Given the description of an element on the screen output the (x, y) to click on. 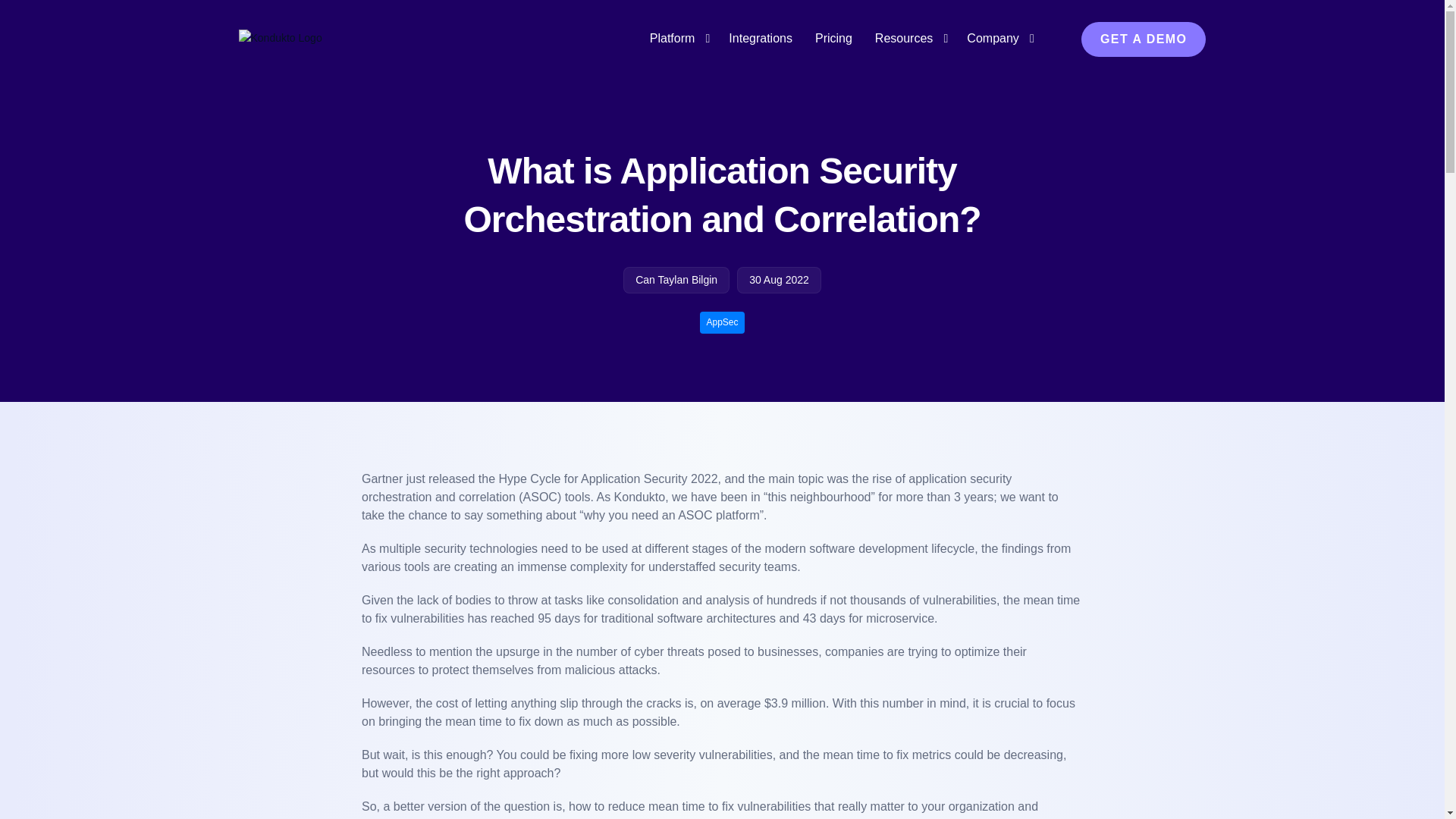
GET A DEMO (1144, 38)
Resources (909, 38)
Integrations (760, 38)
Pricing (833, 38)
